Given the description of an element on the screen output the (x, y) to click on. 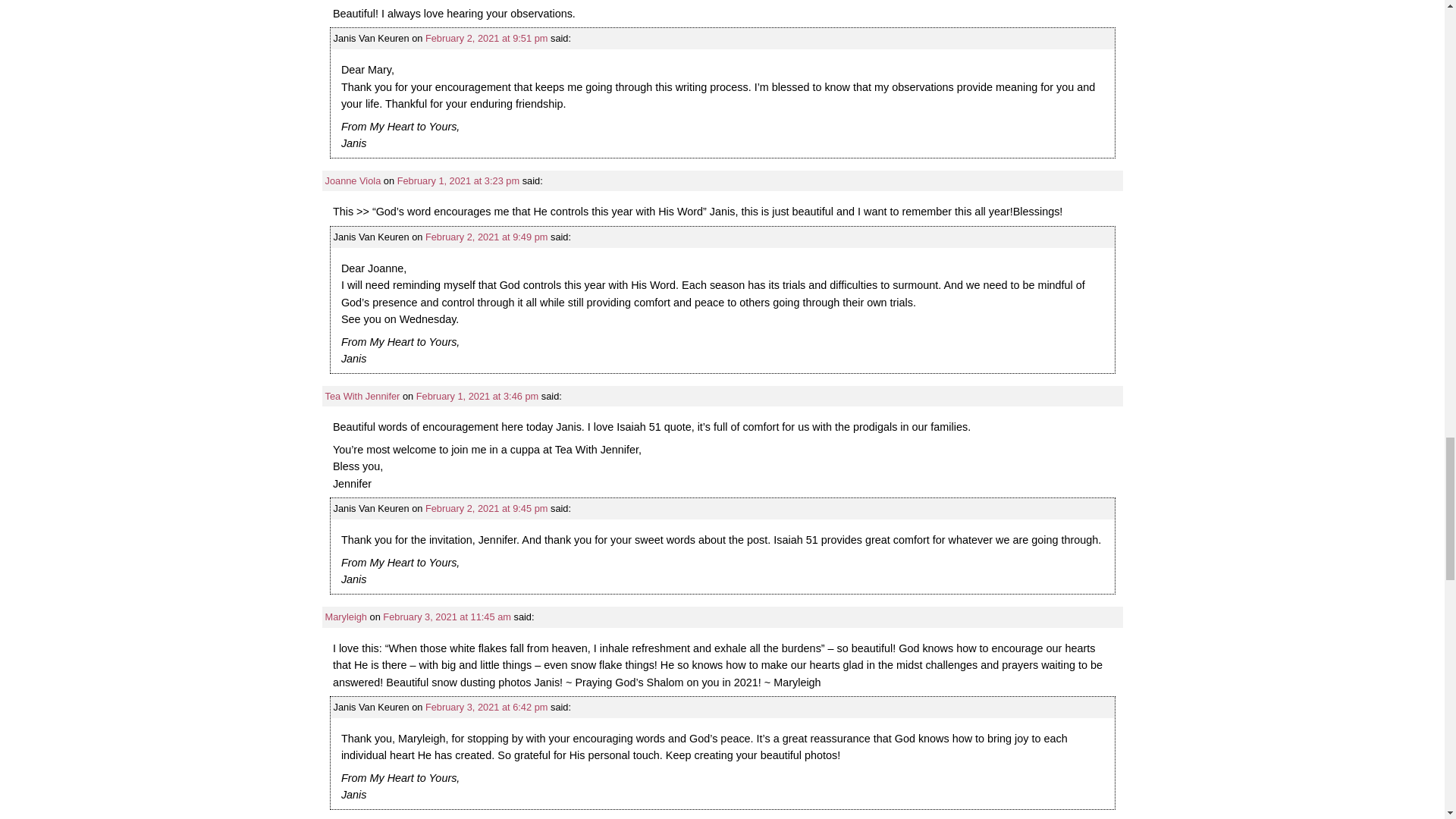
February 2, 2021 at 9:45 pm (486, 508)
February 2, 2021 at 9:51 pm (486, 38)
Maryleigh (345, 616)
February 1, 2021 at 3:23 pm (458, 179)
February 1, 2021 at 3:46 pm (477, 396)
Tea With Jennifer (361, 396)
Joanne Viola (352, 179)
February 3, 2021 at 6:42 pm (486, 706)
February 2, 2021 at 9:49 pm (486, 236)
February 3, 2021 at 11:45 am (446, 616)
